Given the description of an element on the screen output the (x, y) to click on. 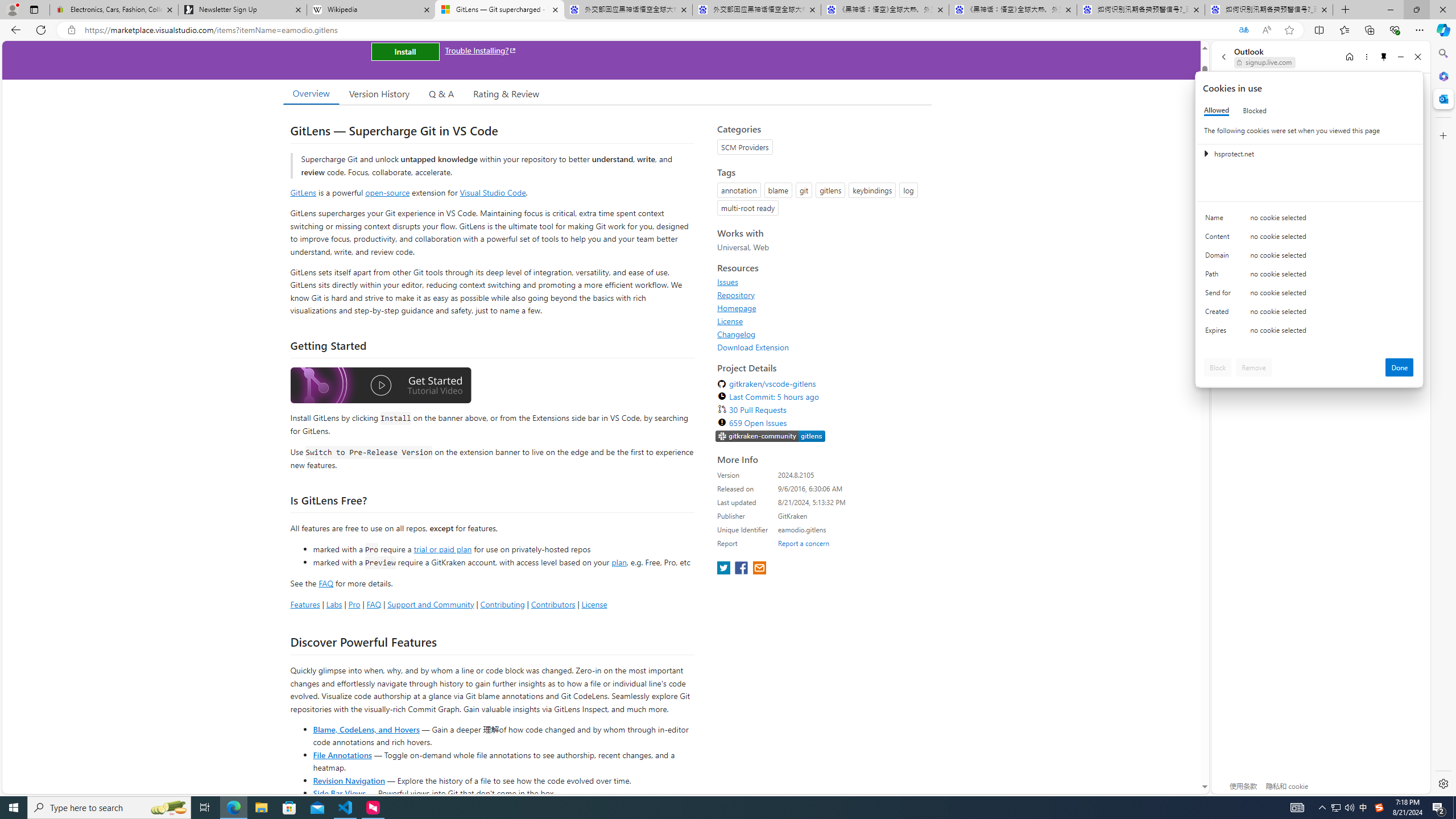
no cookie selected (1331, 332)
Allowed (1216, 110)
Name (1219, 220)
Path (1219, 276)
Class: c0153 c0157 c0154 (1309, 220)
Content (1219, 239)
Send for (1219, 295)
Expires (1219, 332)
Block (1217, 367)
Created (1219, 313)
Remove (1253, 367)
Done (1399, 367)
Domain (1219, 257)
Blocked (1255, 110)
Class: c0153 c0157 (1309, 332)
